Given the description of an element on the screen output the (x, y) to click on. 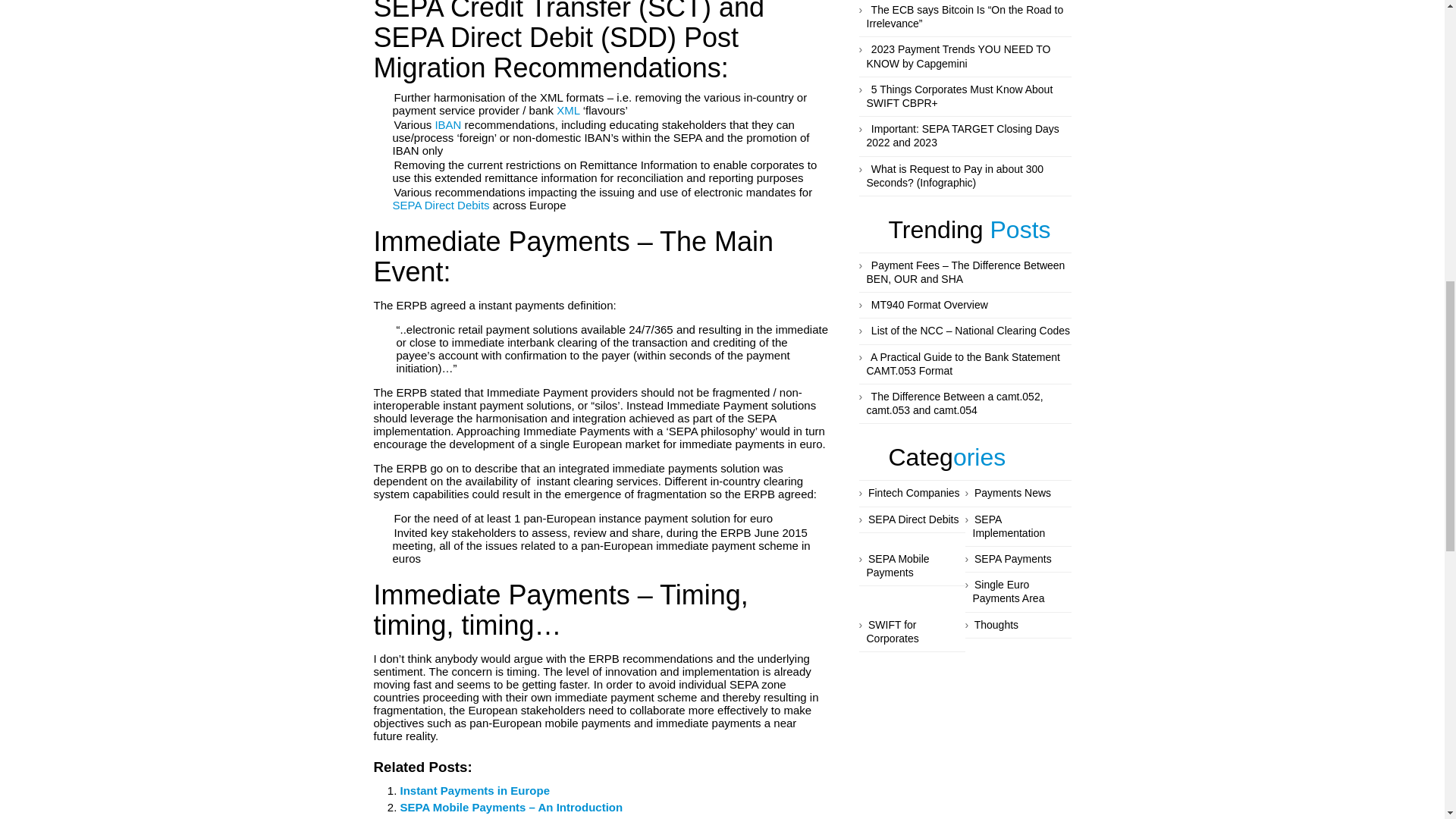
SEPA Direct Debits (441, 205)
Important: SEPA TARGET Closing Days 2022 and 2023 (962, 135)
IBAN (447, 124)
Instant Payments in Europe (475, 790)
SEPA XML in a Nutshell (567, 110)
Instant Payments in Europe (475, 790)
2023 Payment Trends YOU NEED TO KNOW by Capgemini (957, 56)
XML (567, 110)
